Given the description of an element on the screen output the (x, y) to click on. 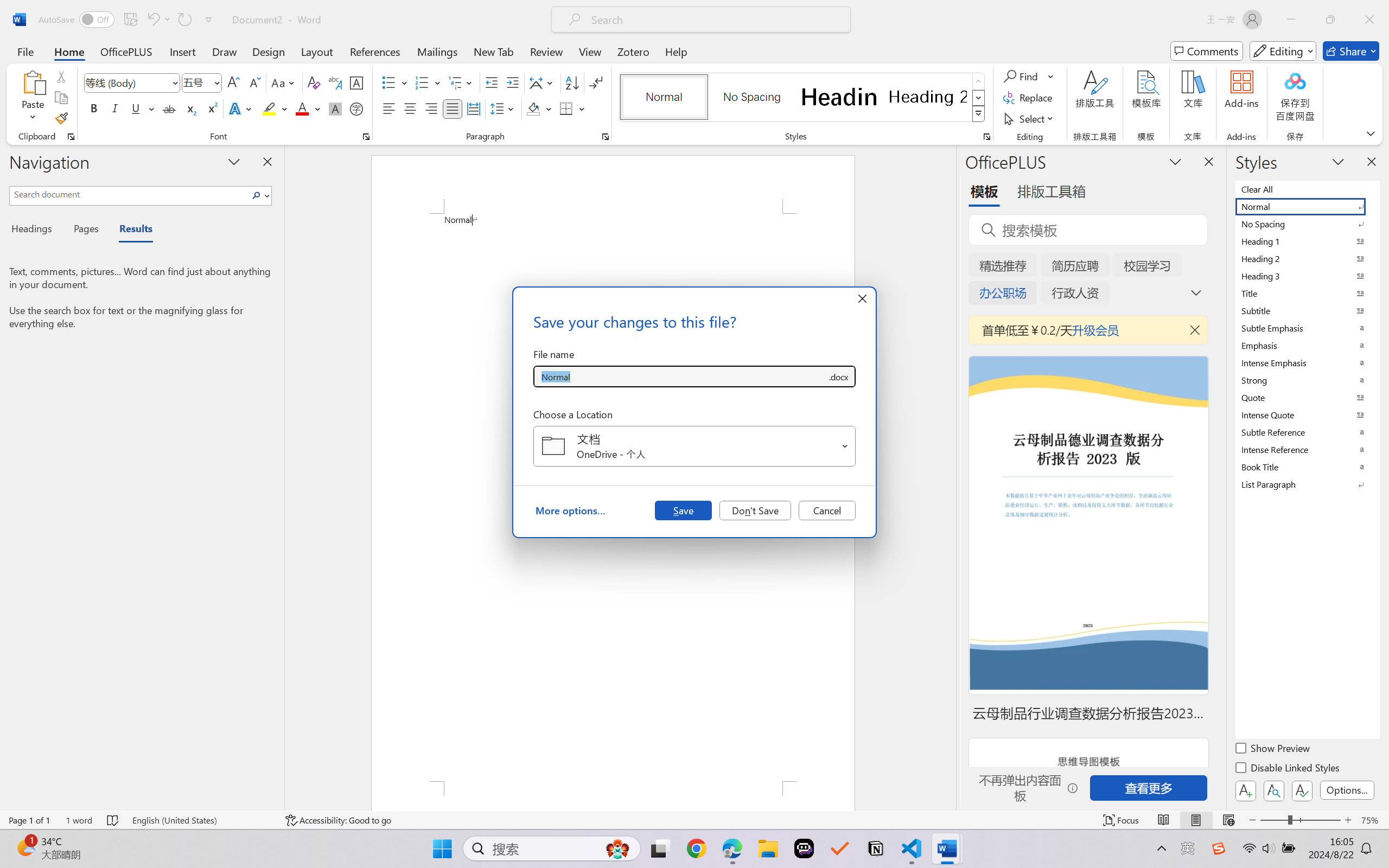
Focus  (1121, 819)
